Given the description of an element on the screen output the (x, y) to click on. 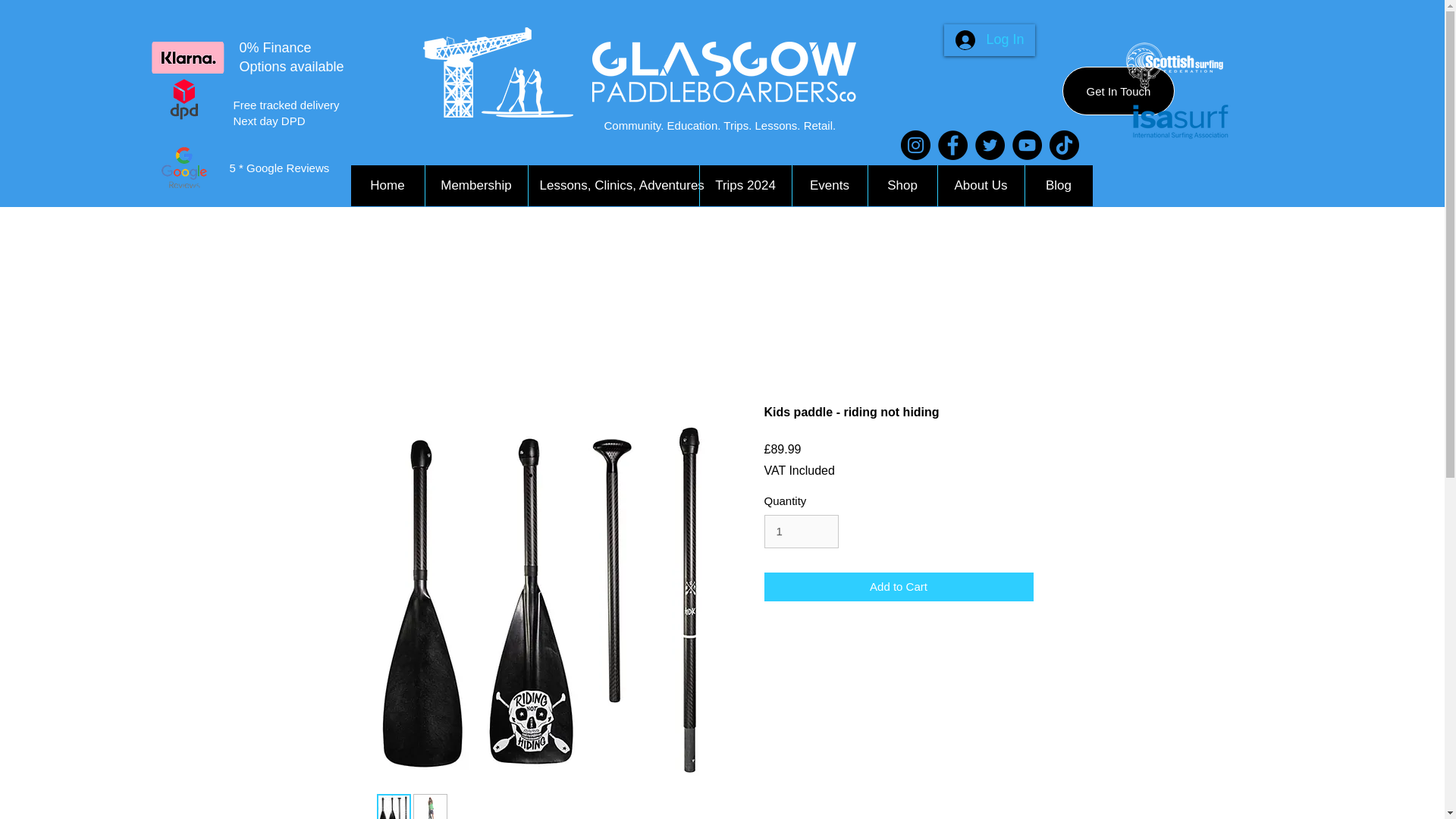
Membership (476, 185)
download.png (161, 57)
Lessons, Clinics, Adventures (612, 185)
Home (386, 185)
About Us (981, 185)
Log In (988, 39)
1 (801, 531)
Get In Touch (1118, 90)
Blog (1057, 185)
Events (829, 185)
Trips 2024 (745, 185)
Shop (902, 185)
